Given the description of an element on the screen output the (x, y) to click on. 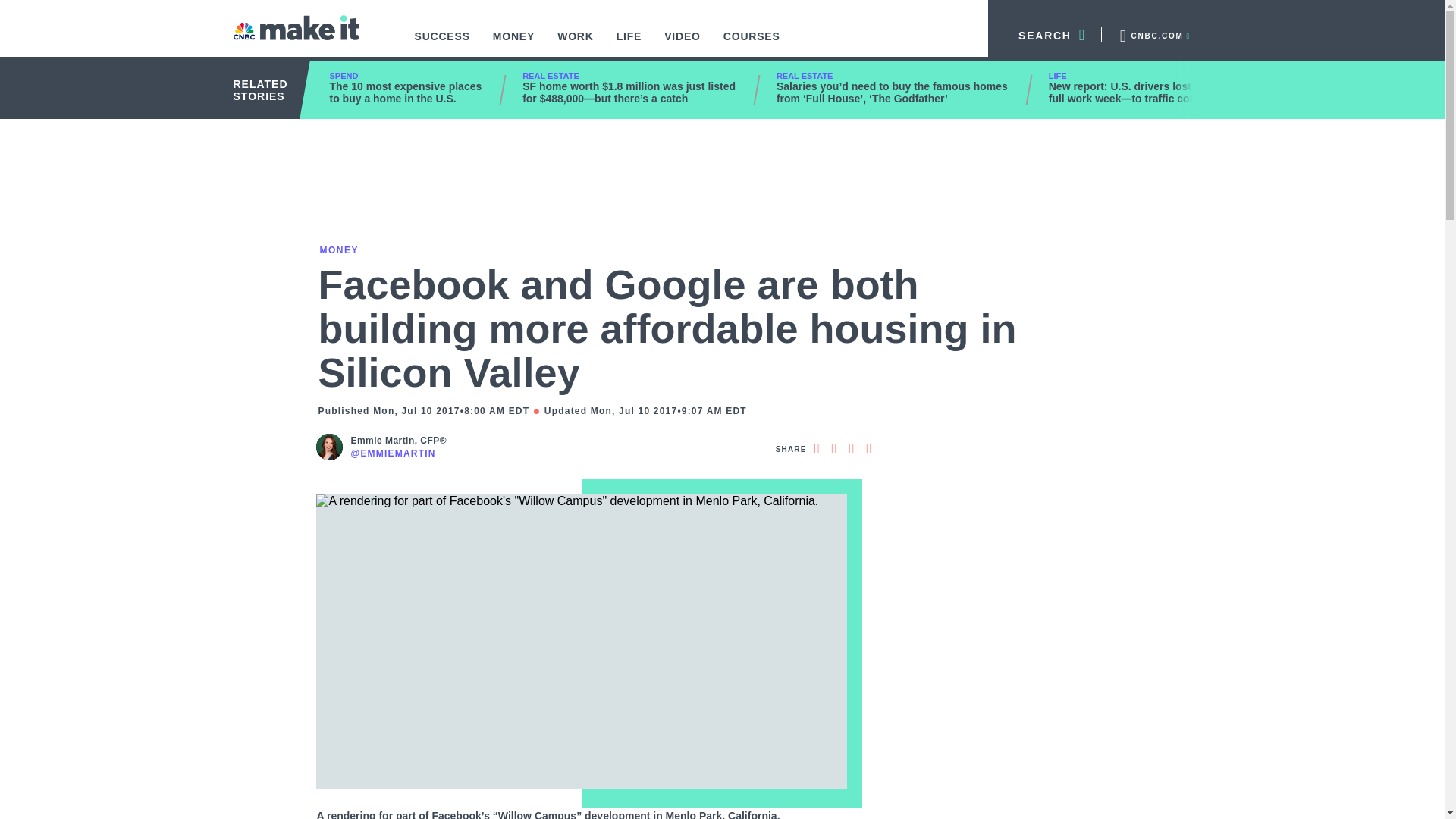
LIFE (629, 44)
VIDEO (681, 44)
COURSES (751, 44)
SEARCH (1045, 33)
SUCCESS (442, 44)
CNBC.COM (1153, 33)
WORK (575, 44)
MONEY (513, 44)
